Given the description of an element on the screen output the (x, y) to click on. 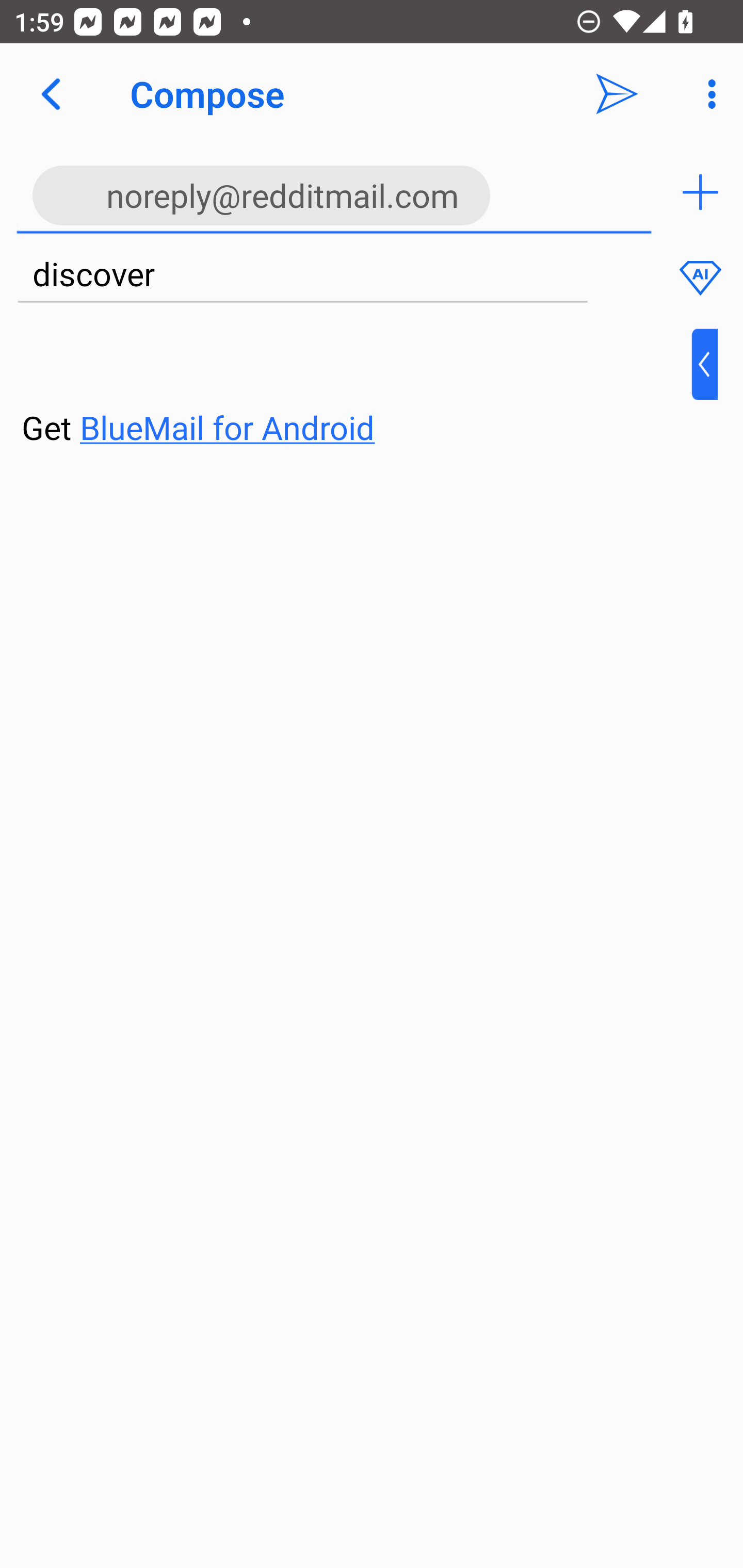
Navigate up (50, 93)
Send (616, 93)
More Options (706, 93)
<noreply@redditmail.com>,  (334, 191)
Add recipient (To) (699, 191)
discover (302, 274)


⁣Get BlueMail for Android ​ (355, 390)
